Given the description of an element on the screen output the (x, y) to click on. 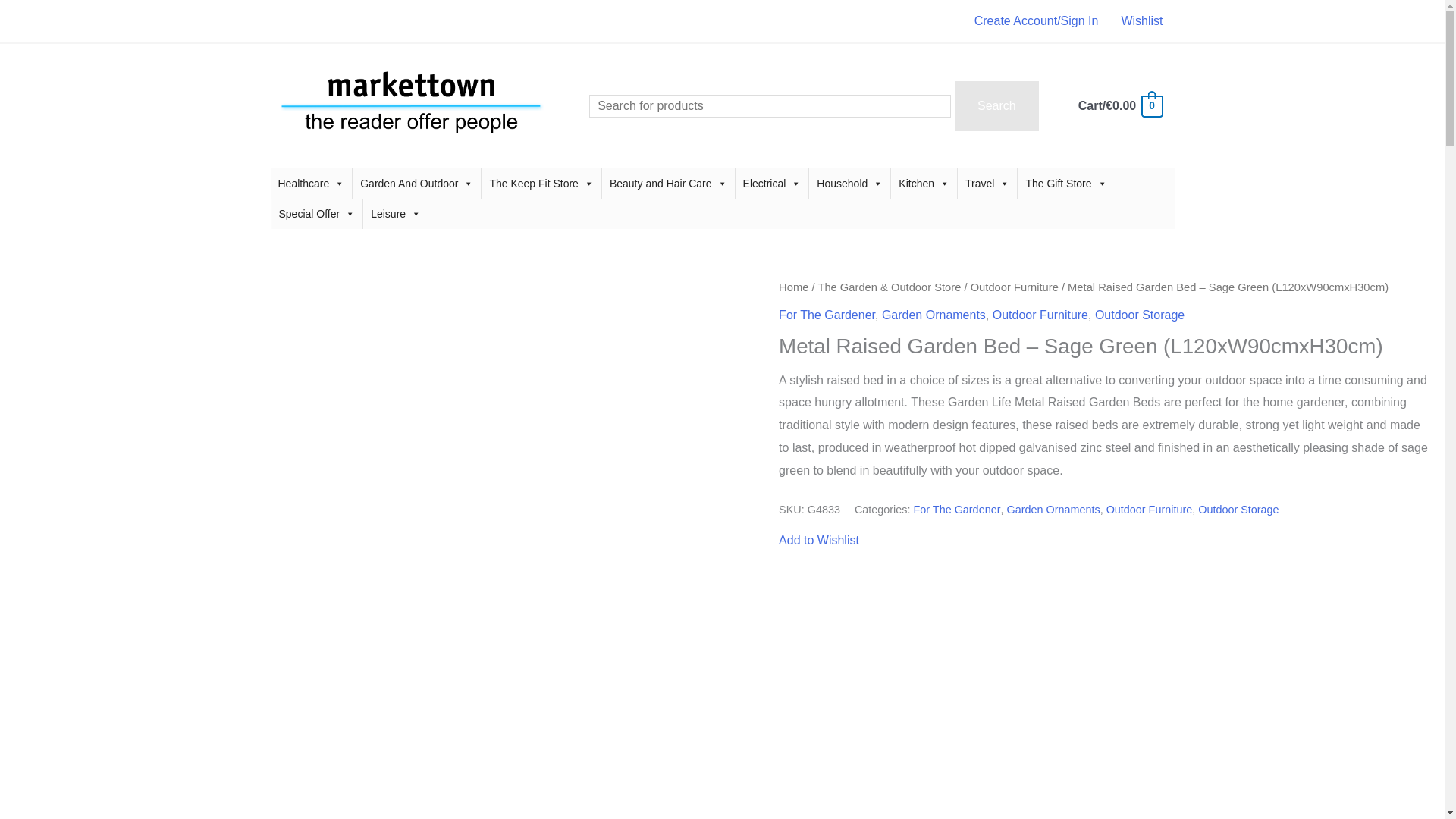
Garden And Outdoor (416, 183)
Healthcare (310, 183)
Wishlist (1141, 21)
cropped-Markettown-Logo.png (410, 105)
Search (997, 106)
Search (997, 106)
Search (997, 106)
